Given the description of an element on the screen output the (x, y) to click on. 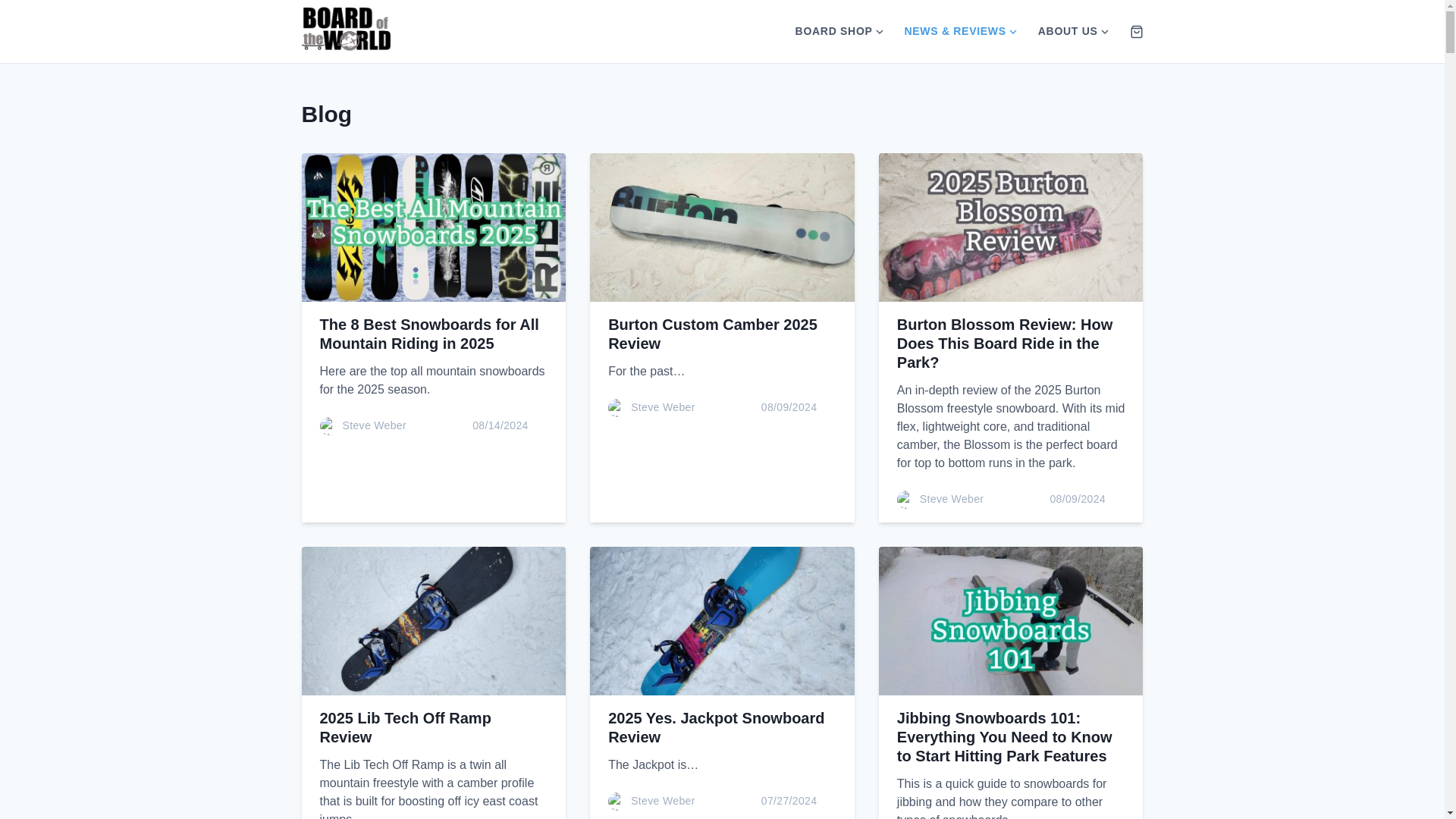
Burton Custom Camber 2025 Review (712, 334)
2025 Yes. Jackpot Snowboard Review 6 (721, 621)
Burton Blossom Review: How Does This Board Ride in the Park? (1004, 343)
Steve Weber (952, 498)
Burton Custom Camber 2025 Review 2 (721, 227)
Steve Weber (374, 425)
2025 Lib Tech Off Ramp Review 5 (433, 621)
The 8 Best Snowboards for All Mountain Riding in 2025 1 (433, 227)
BOARD SHOP (829, 31)
